Given the description of an element on the screen output the (x, y) to click on. 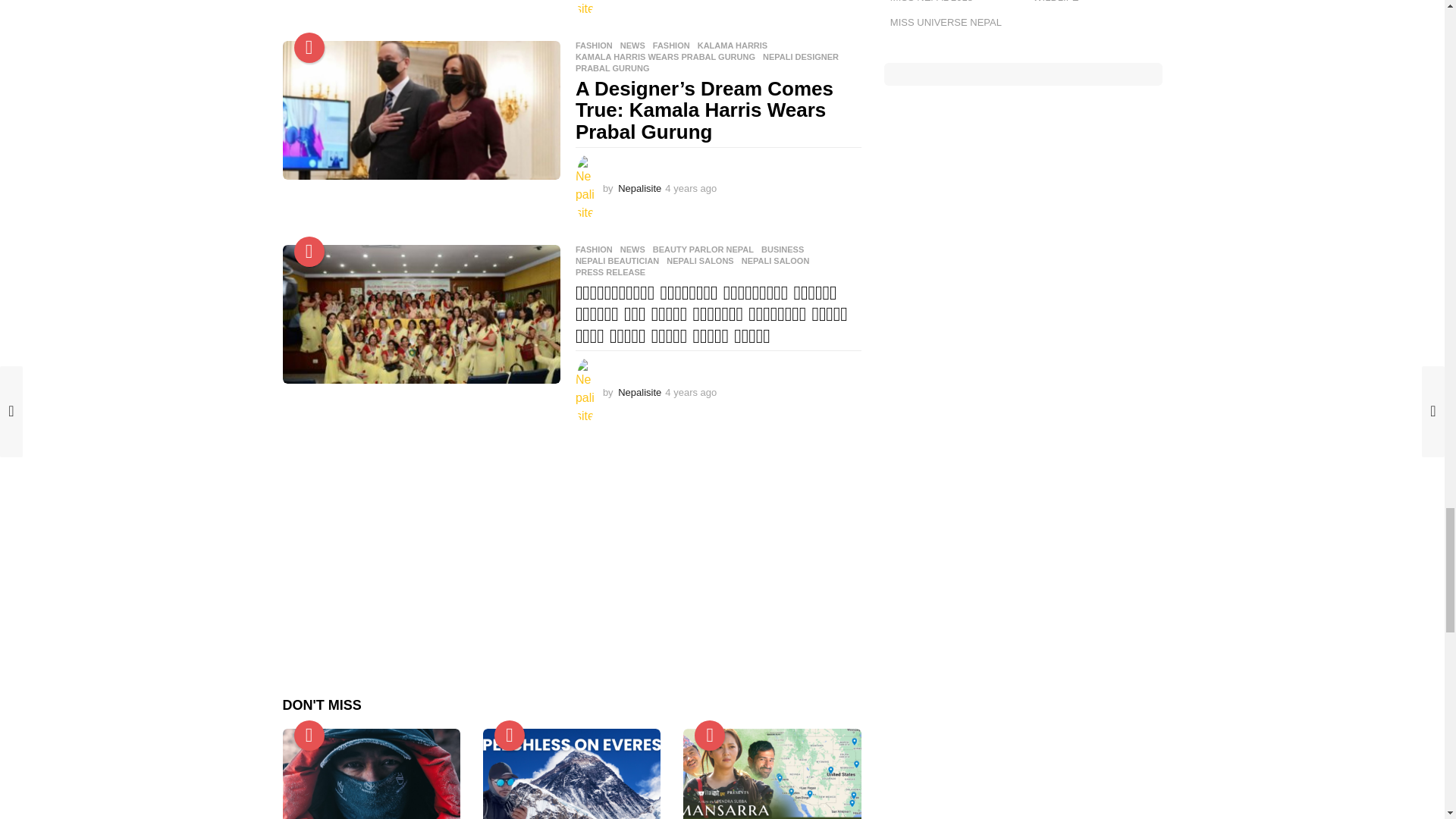
Trending (309, 47)
